Given the description of an element on the screen output the (x, y) to click on. 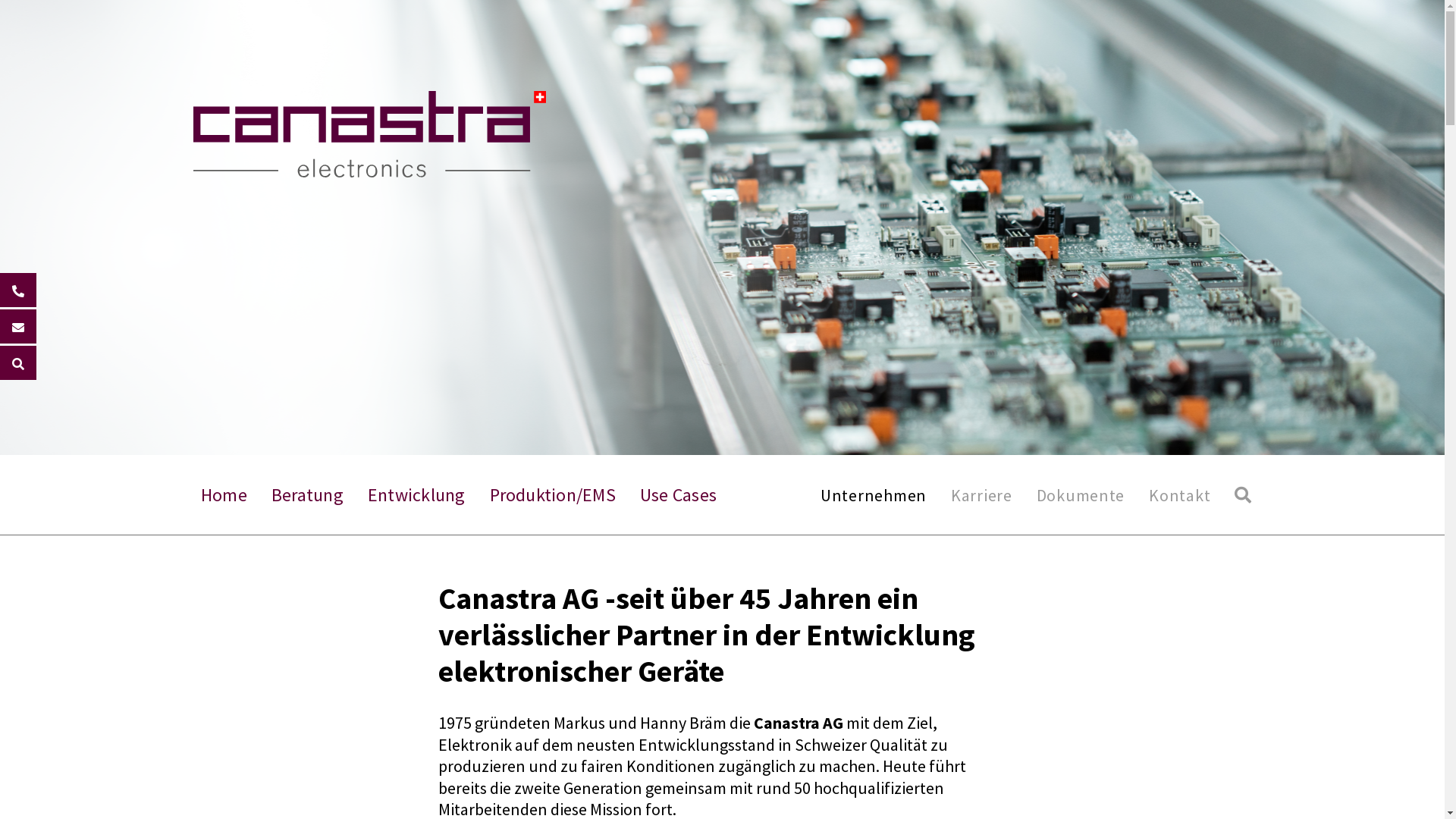
Produktion/EMS Element type: text (552, 494)
Home Element type: text (223, 494)
Karriere Element type: text (981, 494)
Kontakt Element type: text (1179, 494)
Use Cases Element type: text (678, 494)
Unternehmen Element type: text (873, 494)
Beratung Element type: text (307, 494)
Entwicklung Element type: text (416, 494)
Dokumente Element type: text (1080, 494)
